Given the description of an element on the screen output the (x, y) to click on. 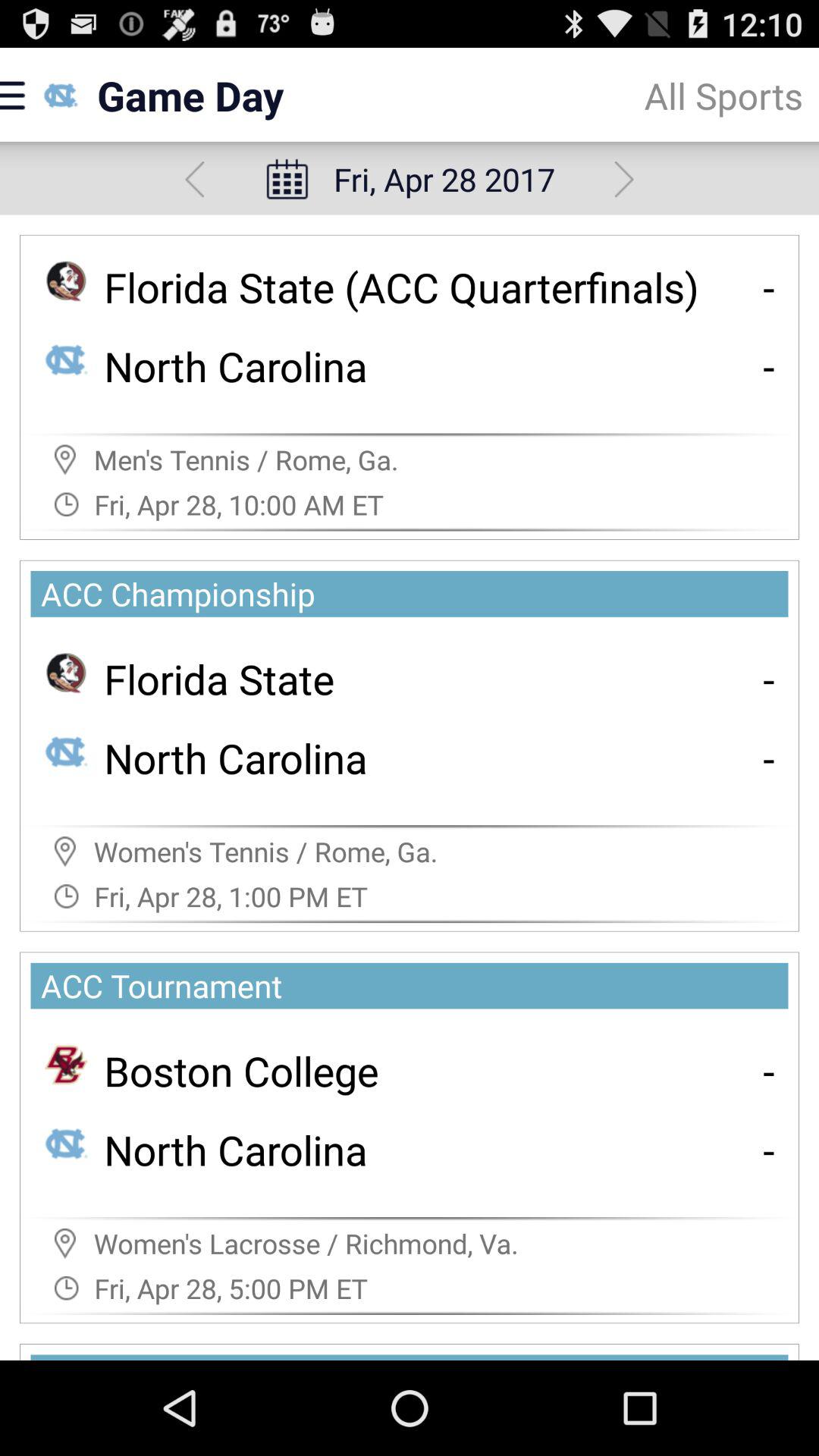
select item below the - app (768, 757)
